Given the description of an element on the screen output the (x, y) to click on. 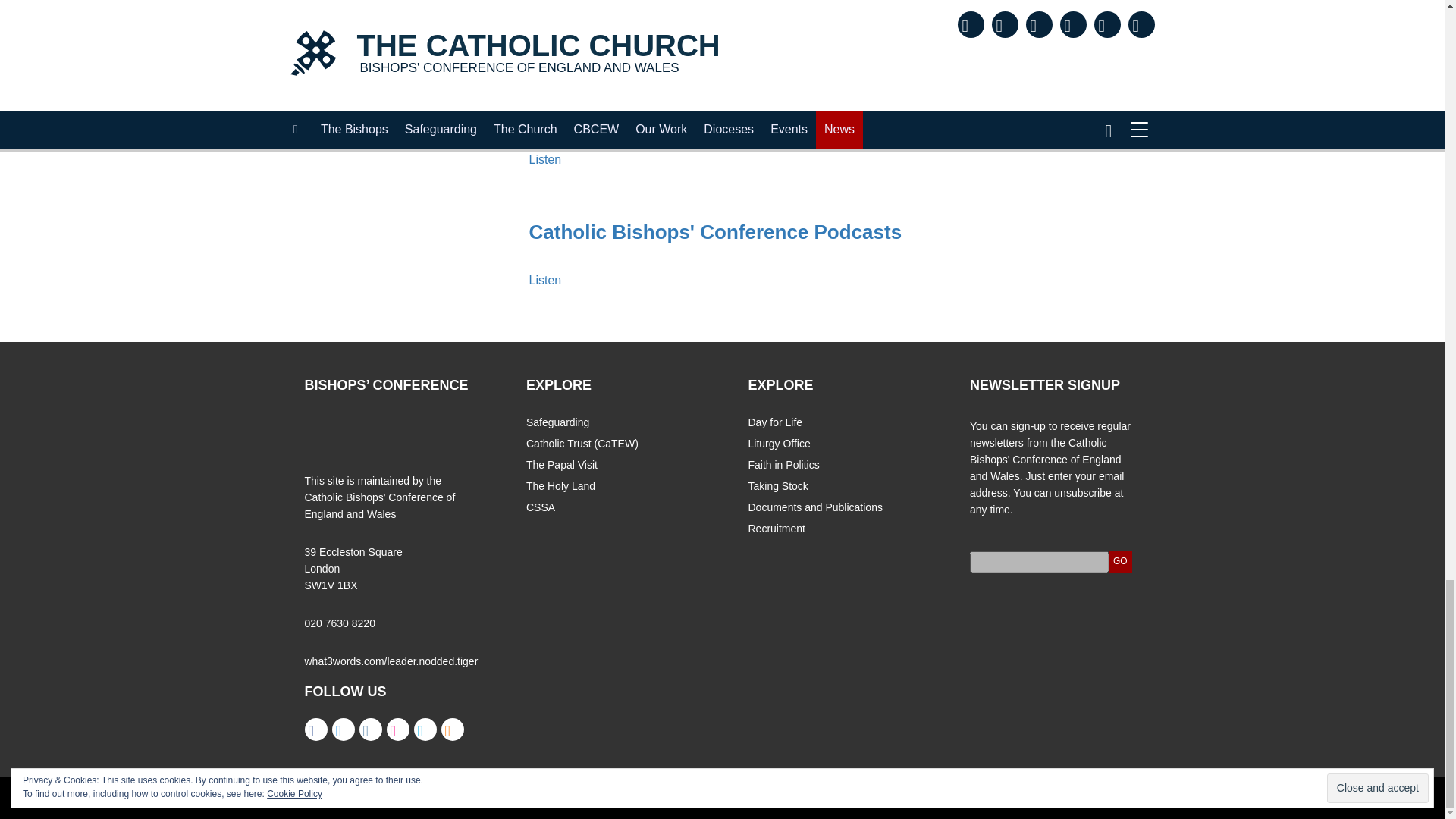
Go (1120, 561)
